Given the description of an element on the screen output the (x, y) to click on. 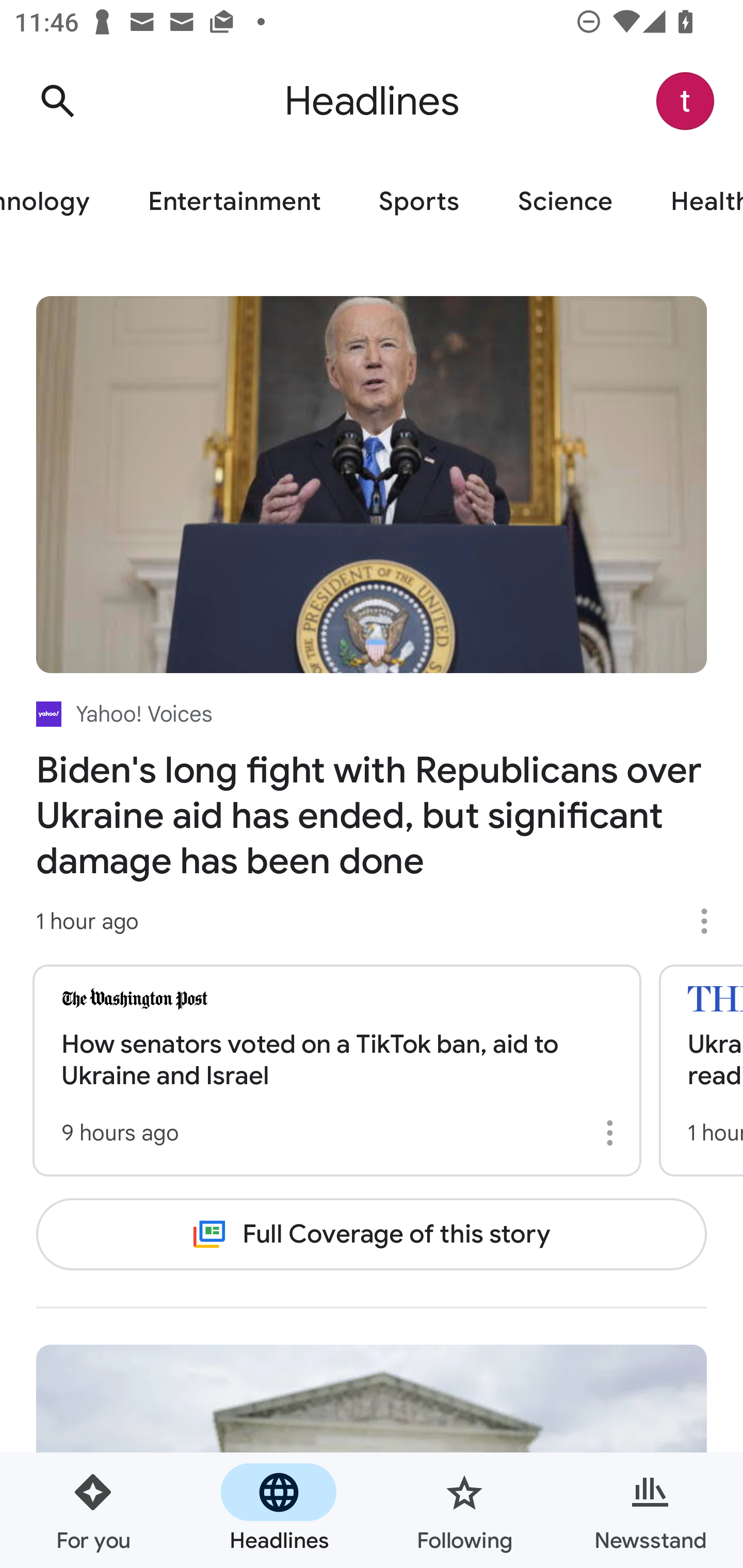
Search (57, 100)
Entertainment (233, 202)
Sports (418, 202)
Science (564, 202)
More options (711, 921)
More options (613, 1132)
Full Coverage of this story (371, 1233)
For you (92, 1509)
Headlines (278, 1509)
Following (464, 1509)
Newsstand (650, 1509)
